Given the description of an element on the screen output the (x, y) to click on. 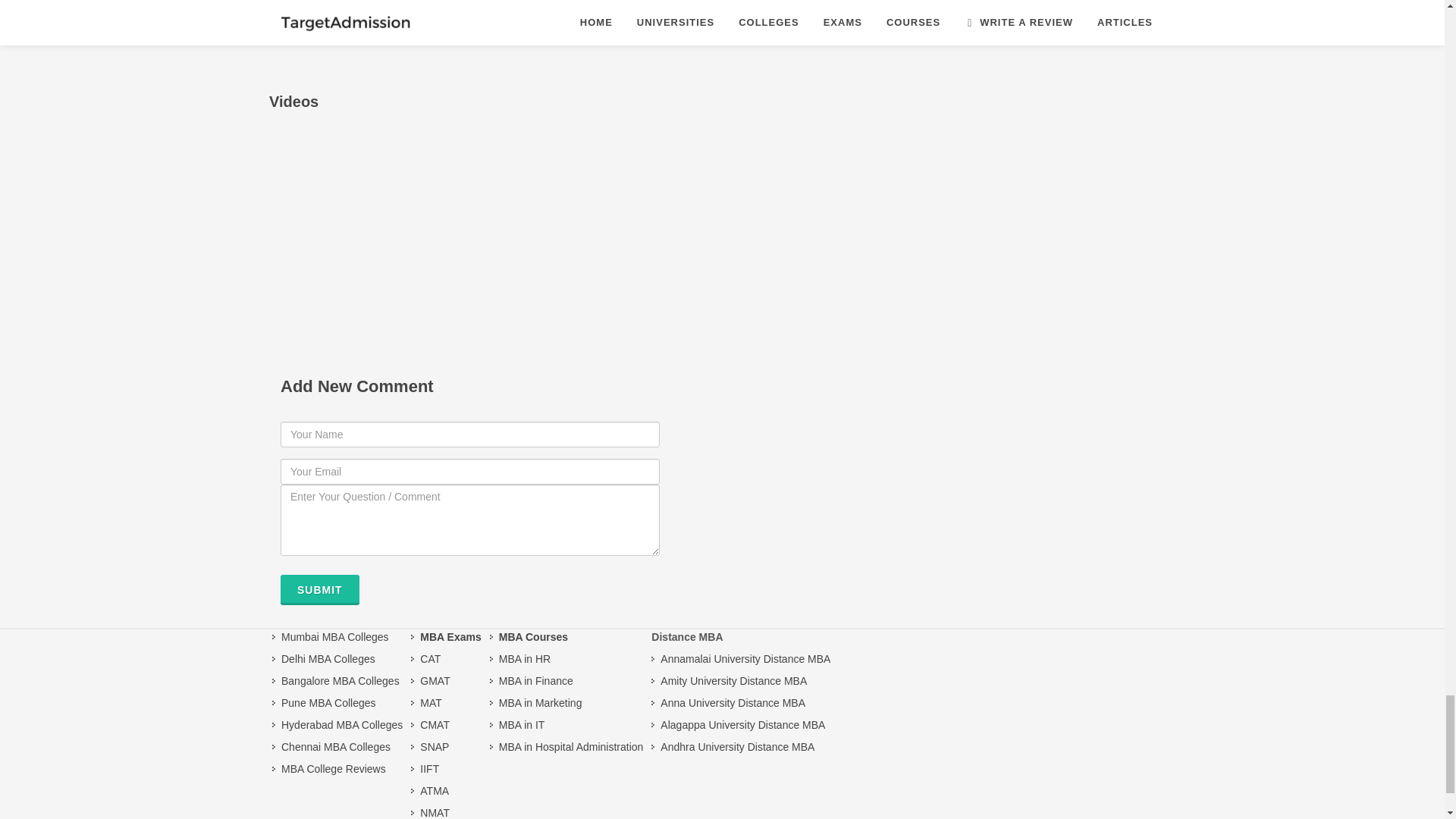
Submit (320, 589)
